Given the description of an element on the screen output the (x, y) to click on. 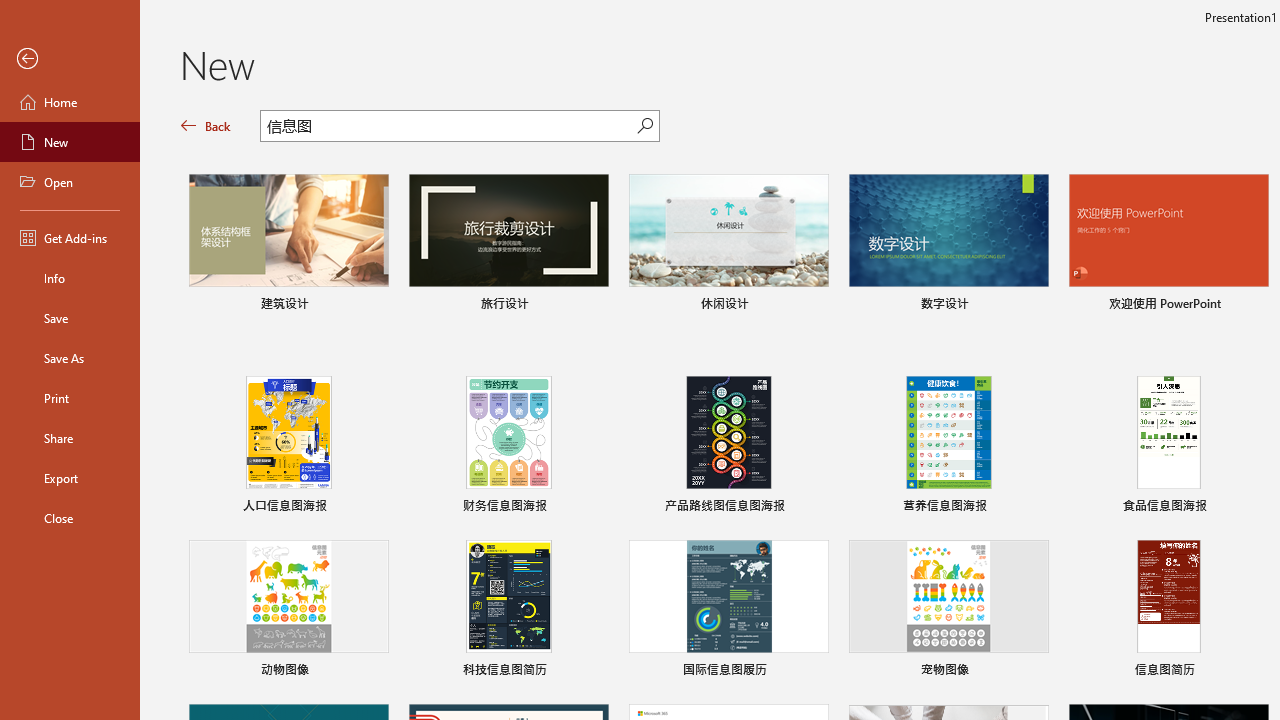
Search for online templates and themes (449, 128)
Get Add-ins (69, 237)
Back (69, 59)
New (69, 141)
